Given the description of an element on the screen output the (x, y) to click on. 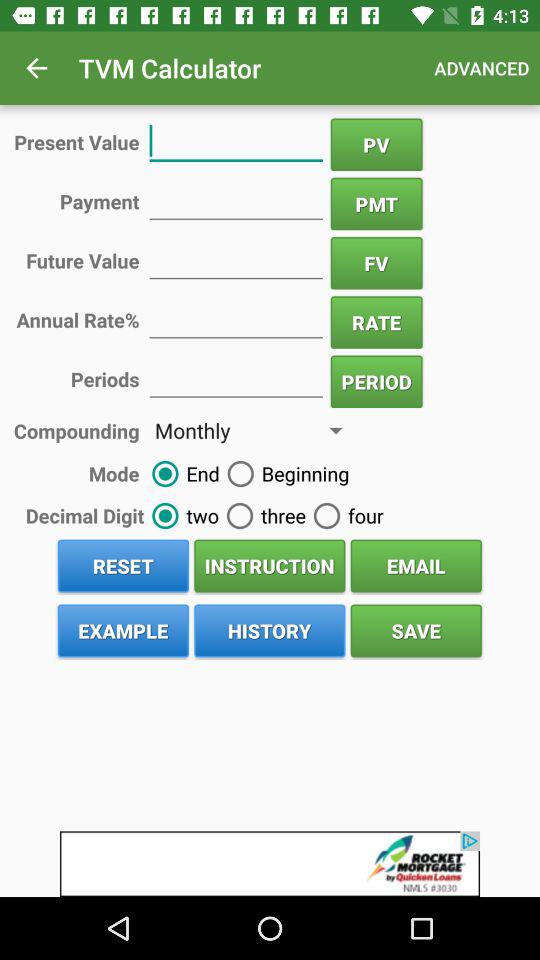
select the rate (236, 318)
